Given the description of an element on the screen output the (x, y) to click on. 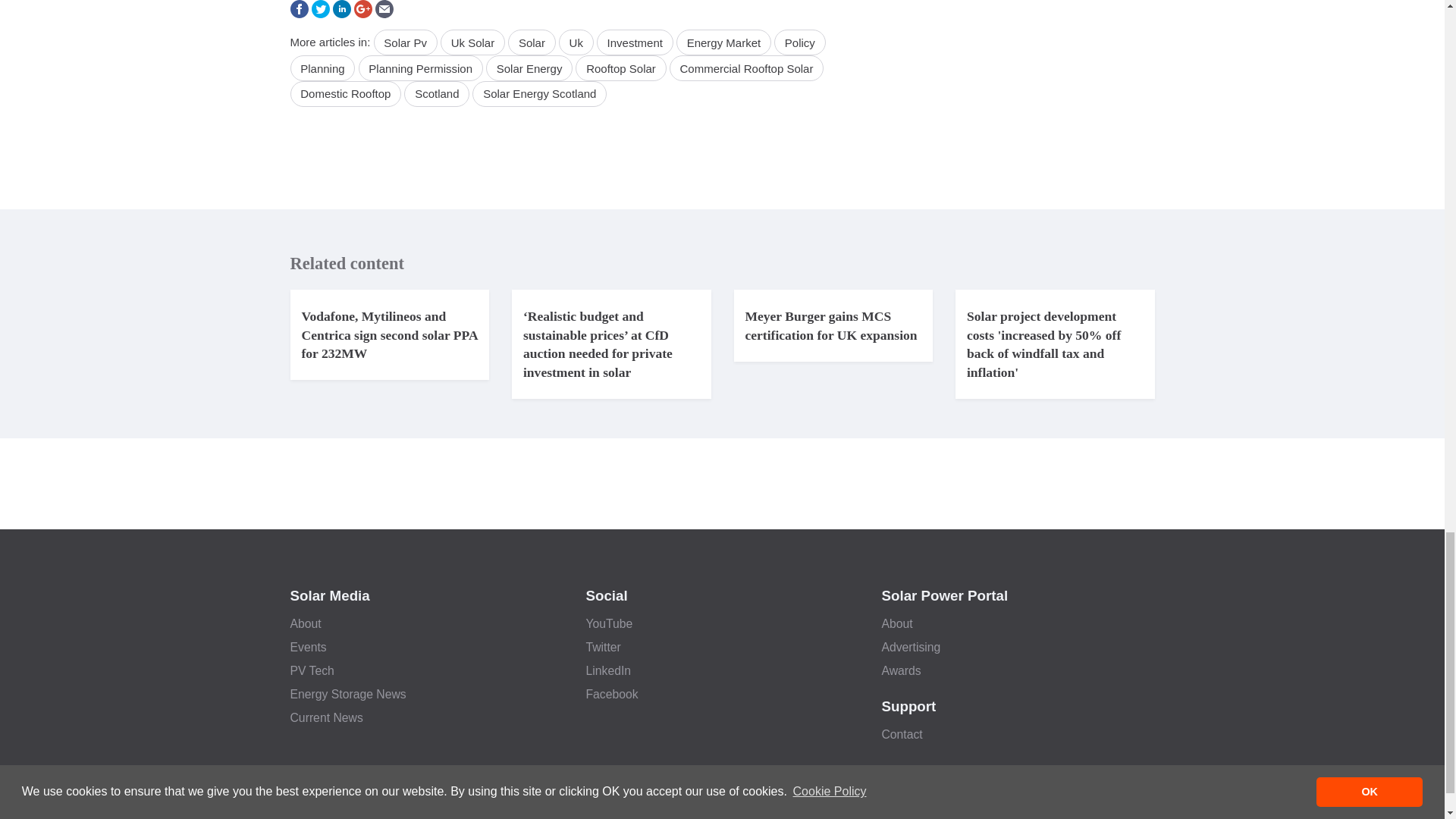
3rd party ad content (574, 163)
Read this article (830, 325)
Read this article (389, 334)
Read this article (597, 344)
Read this article (1043, 344)
